Given the description of an element on the screen output the (x, y) to click on. 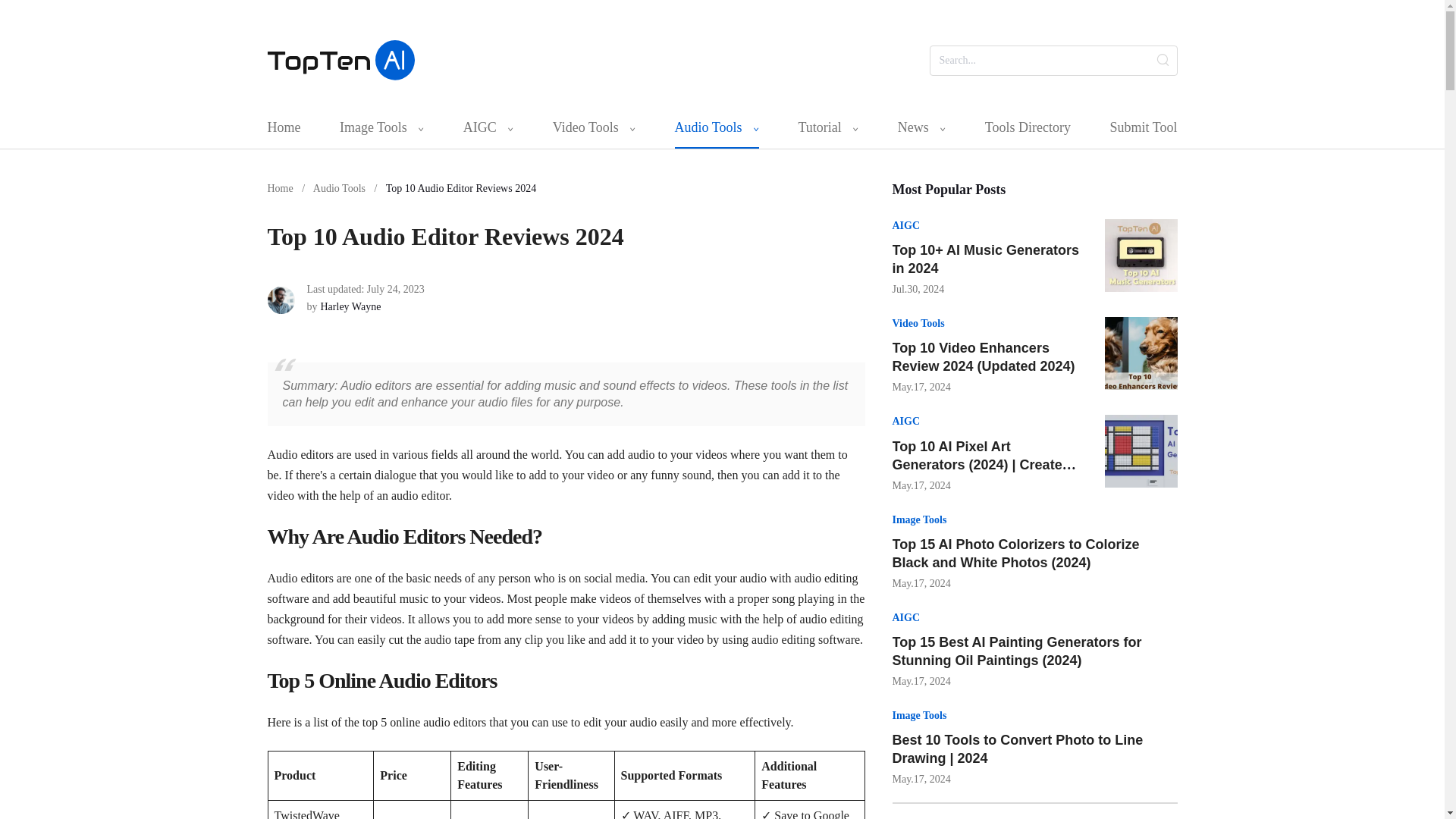
Audio Tools (716, 127)
Tutorial (828, 127)
Harley Wayne (350, 306)
AIGC (488, 127)
Video Tools (593, 127)
Tools Directory (1027, 127)
News (922, 127)
Submit Tool (1142, 127)
Home (282, 127)
Image Tools (381, 127)
